Given the description of an element on the screen output the (x, y) to click on. 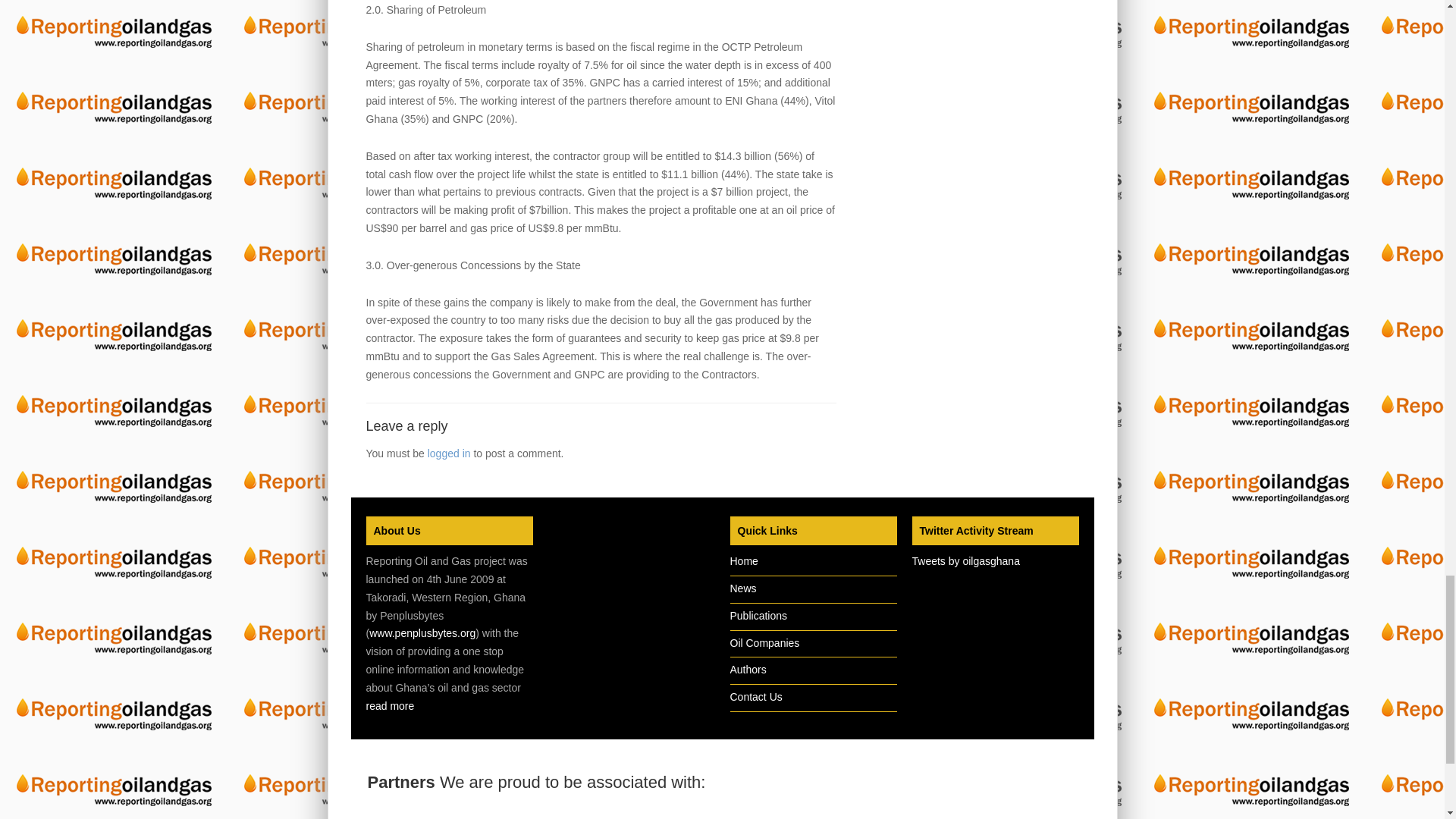
Authors (747, 669)
Contact Us (755, 696)
Home (743, 561)
logged in (449, 453)
Oil Companies (764, 643)
www.penplusbytes.org (422, 633)
Publications (758, 615)
News (742, 588)
Tweets by oilgasghana (965, 561)
read more (389, 705)
